Given the description of an element on the screen output the (x, y) to click on. 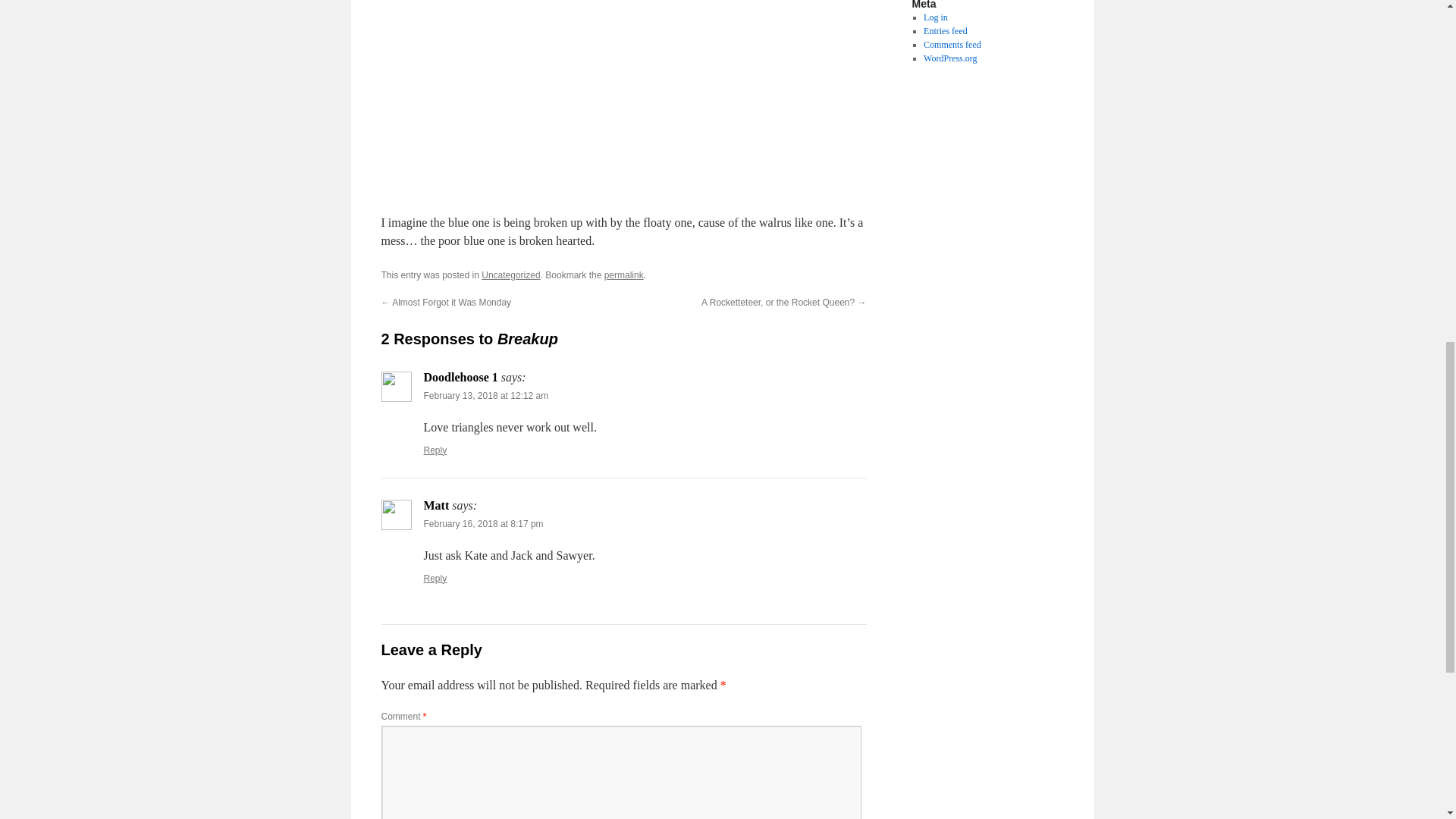
Uncategorized (510, 275)
Reply (434, 578)
Reply (434, 450)
permalink (623, 275)
February 16, 2018 at 8:17 pm (483, 523)
Permalink to Breakup (623, 275)
February 13, 2018 at 12:12 am (485, 395)
